Given the description of an element on the screen output the (x, y) to click on. 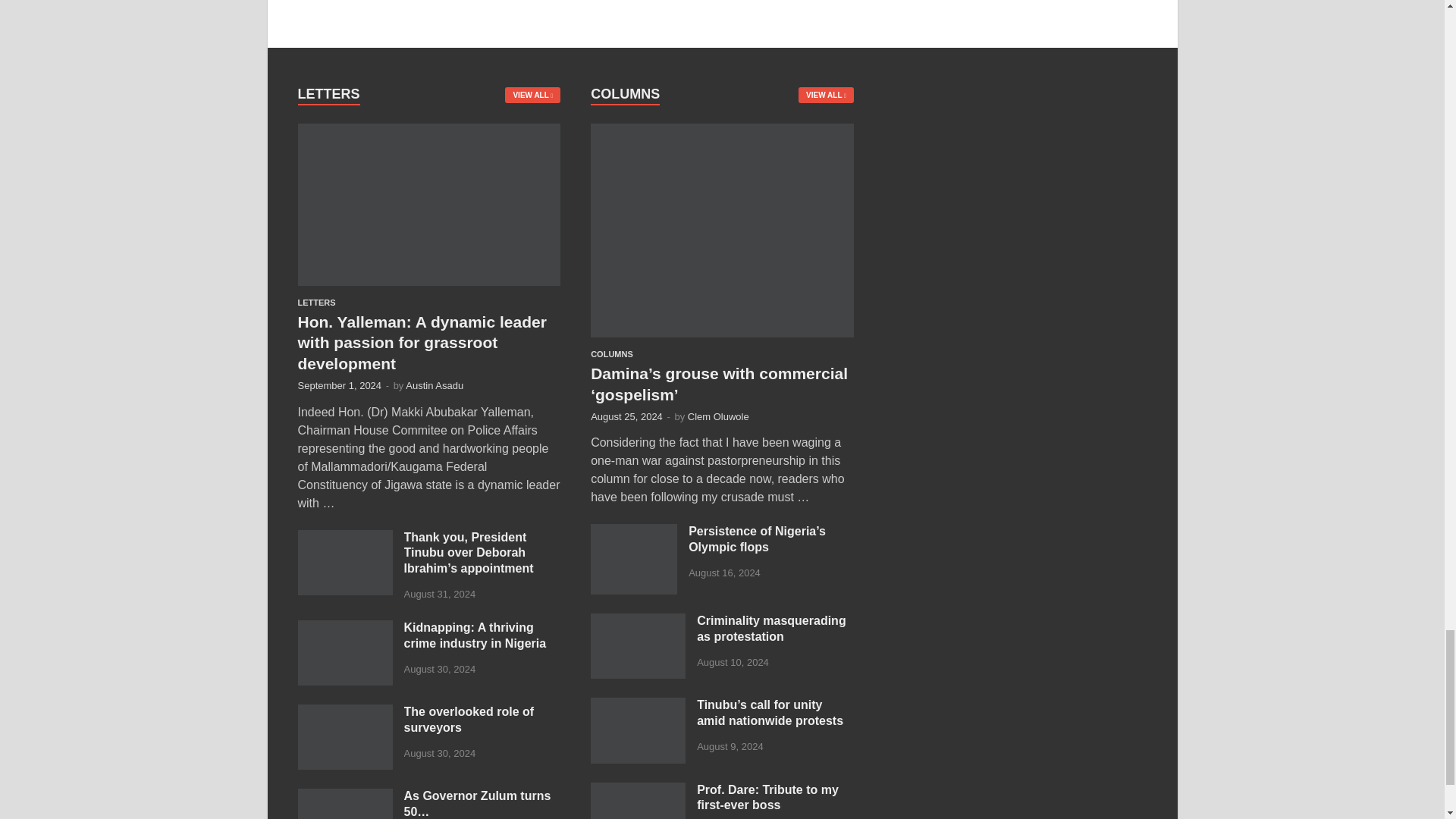
Kidnapping: A thriving crime industry in Nigeria (344, 628)
The overlooked role of surveyors (344, 712)
